Given the description of an element on the screen output the (x, y) to click on. 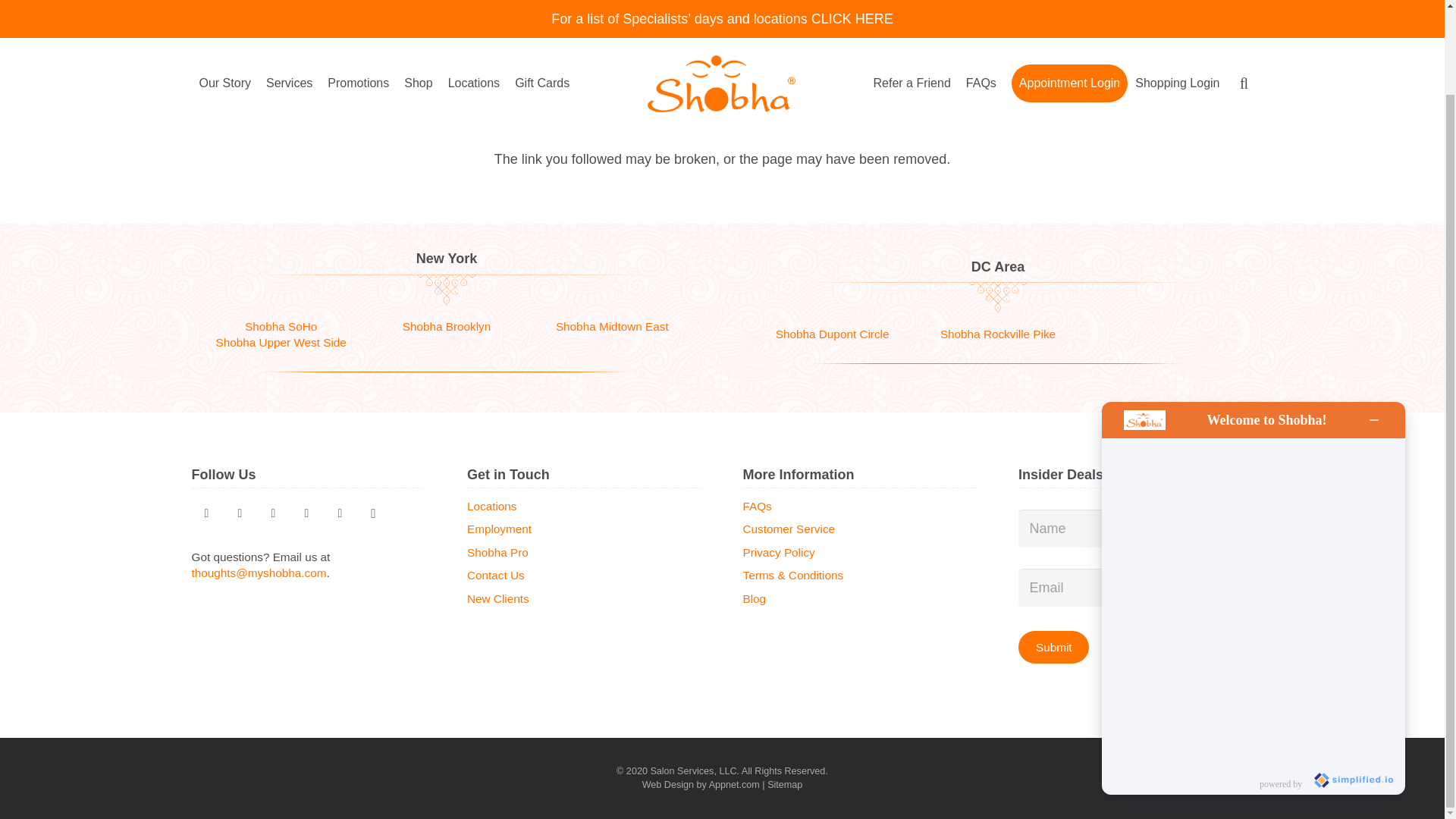
Promotions (358, 3)
Instagram (373, 512)
FAQs (981, 3)
Locations (474, 3)
Pinterest (239, 512)
YouTube (306, 512)
Gift Cards (541, 3)
Submit (1053, 646)
Shop (417, 3)
Twitter (205, 512)
